Given the description of an element on the screen output the (x, y) to click on. 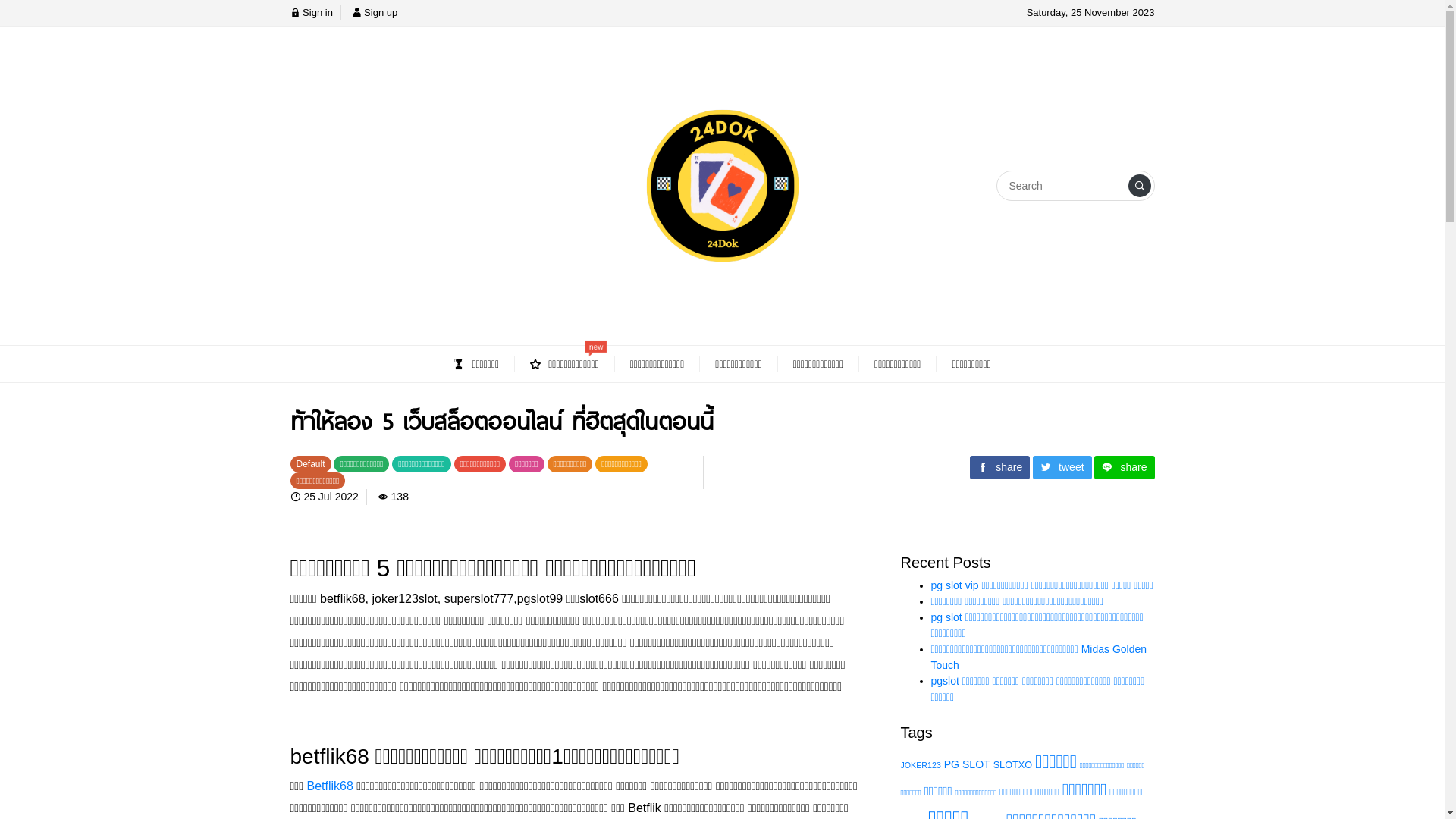
tweet Element type: text (1061, 467)
Sign up Element type: text (374, 12)
Default Element type: text (311, 463)
JOKER123 Element type: text (920, 764)
Sign in Element type: text (310, 12)
Betflik68 Element type: text (329, 785)
share Element type: text (1124, 467)
SLOTXO Element type: text (1012, 764)
share Element type: text (999, 467)
PG SLOT Element type: text (967, 764)
